Given the description of an element on the screen output the (x, y) to click on. 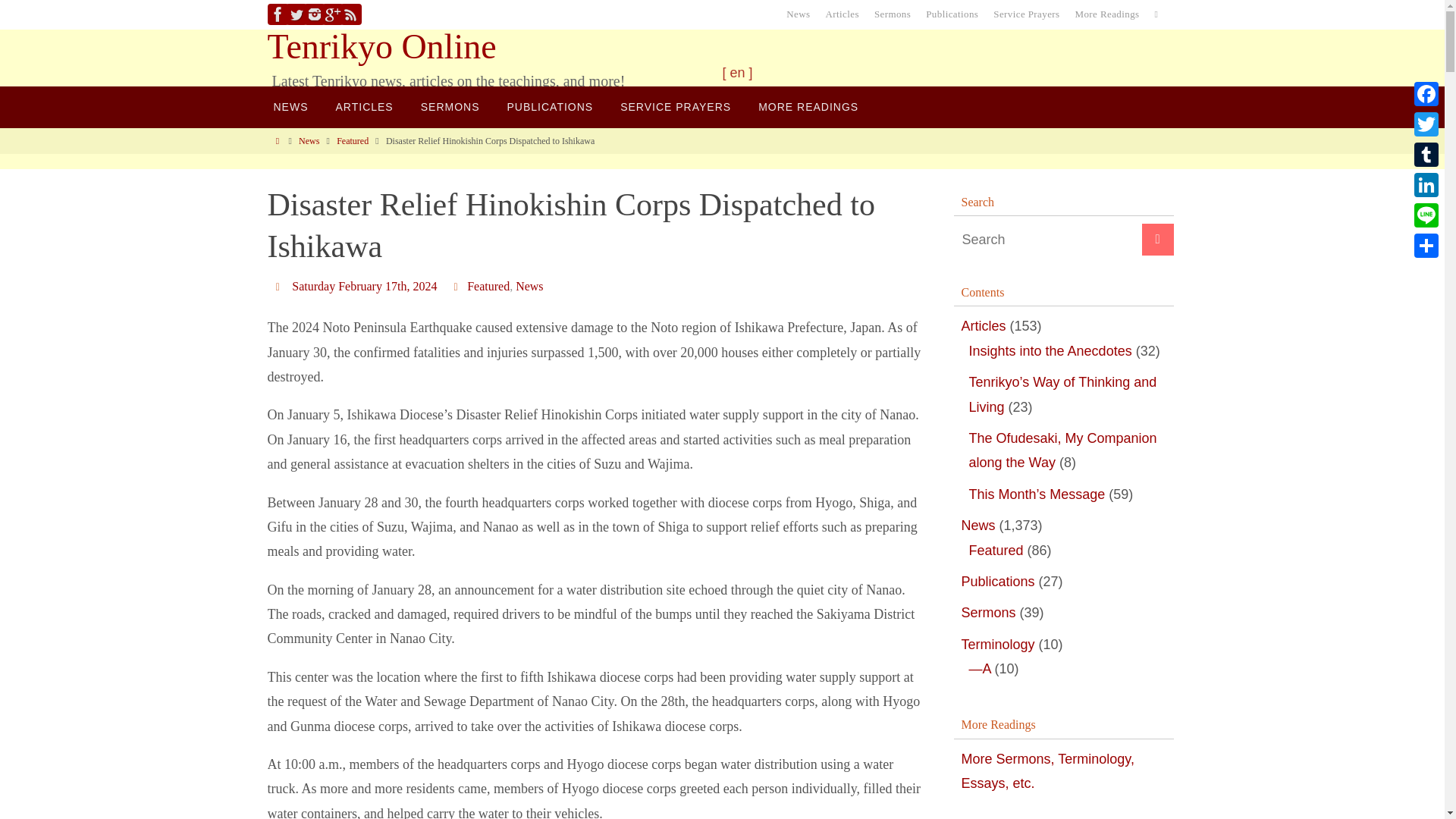
Tenrikyo Online (381, 46)
Tenrikyo Online on Twitter (295, 14)
More Readings (1107, 14)
SERMONS (450, 106)
NEWS (290, 106)
Tenrikyo Online on Facebook (277, 14)
PUBLICATIONS (550, 106)
News (308, 140)
Tenrikyo Online on Instagram (313, 14)
Insights into the Anecdotes (1050, 351)
